Given the description of an element on the screen output the (x, y) to click on. 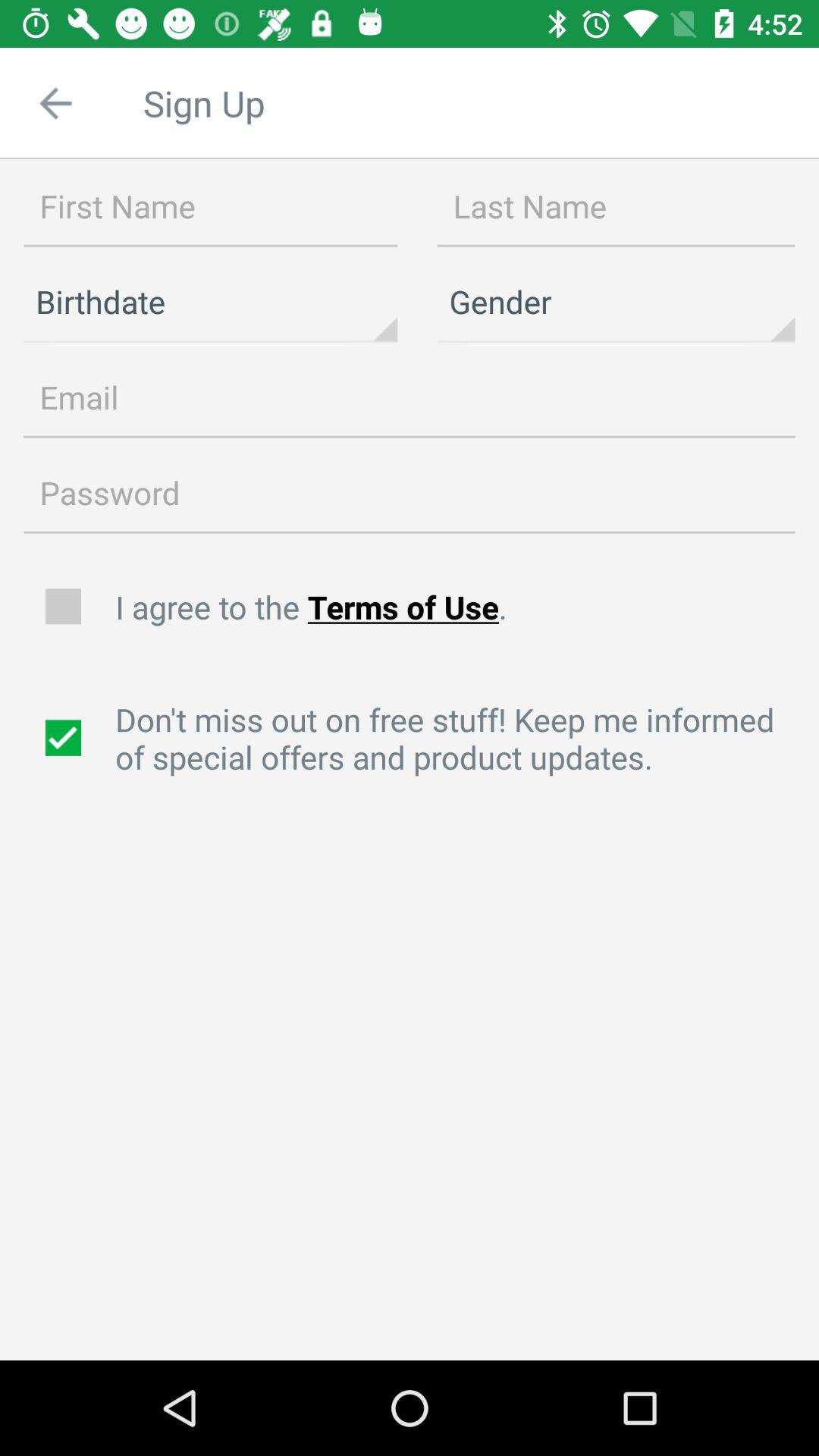
launch the item above the birthdate item (210, 206)
